Given the description of an element on the screen output the (x, y) to click on. 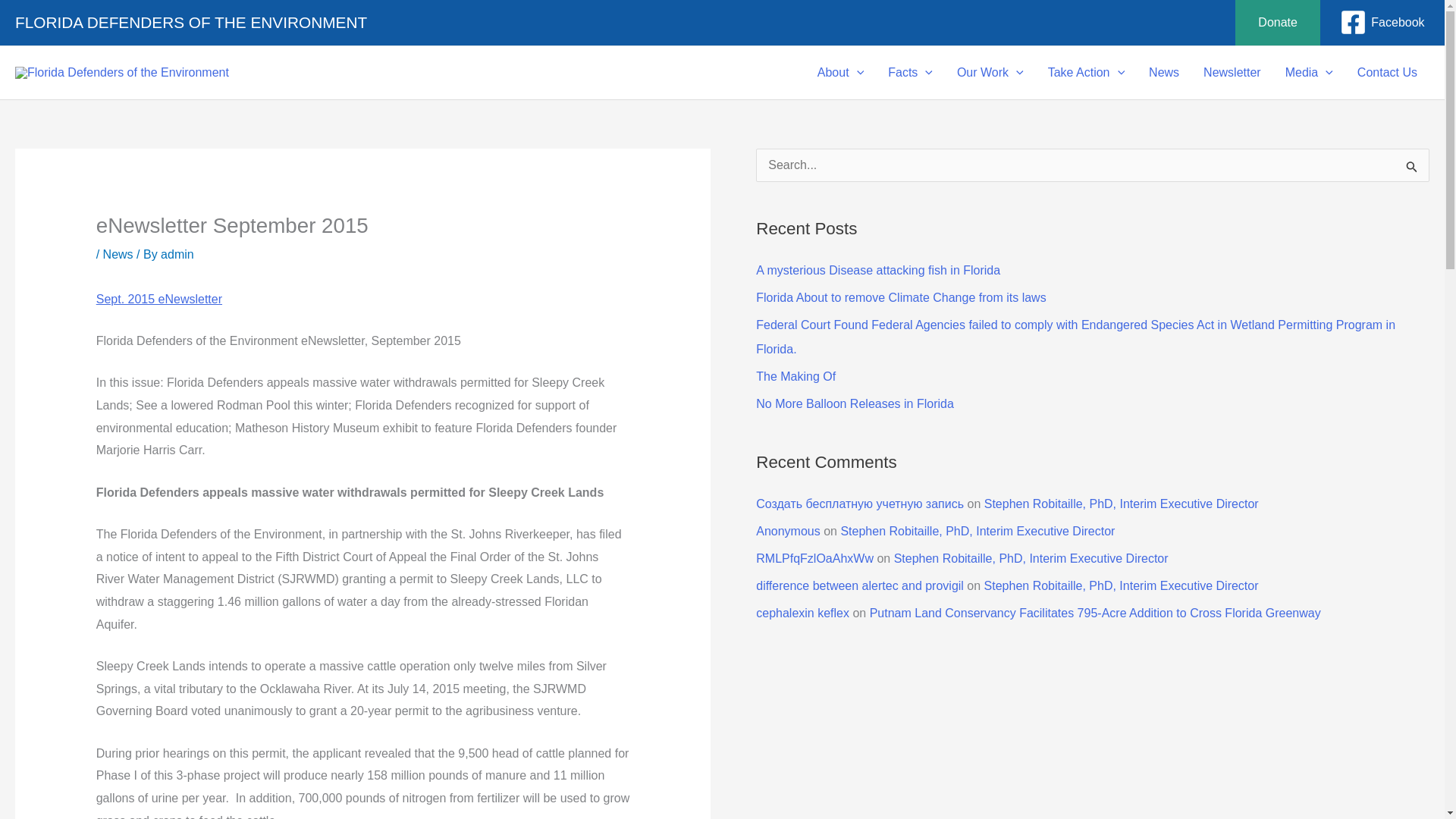
Donate (1277, 22)
Facebook (1382, 22)
Take Action (1086, 72)
About (840, 72)
Facts (910, 72)
View all posts by admin (176, 254)
Our Work (989, 72)
